Given the description of an element on the screen output the (x, y) to click on. 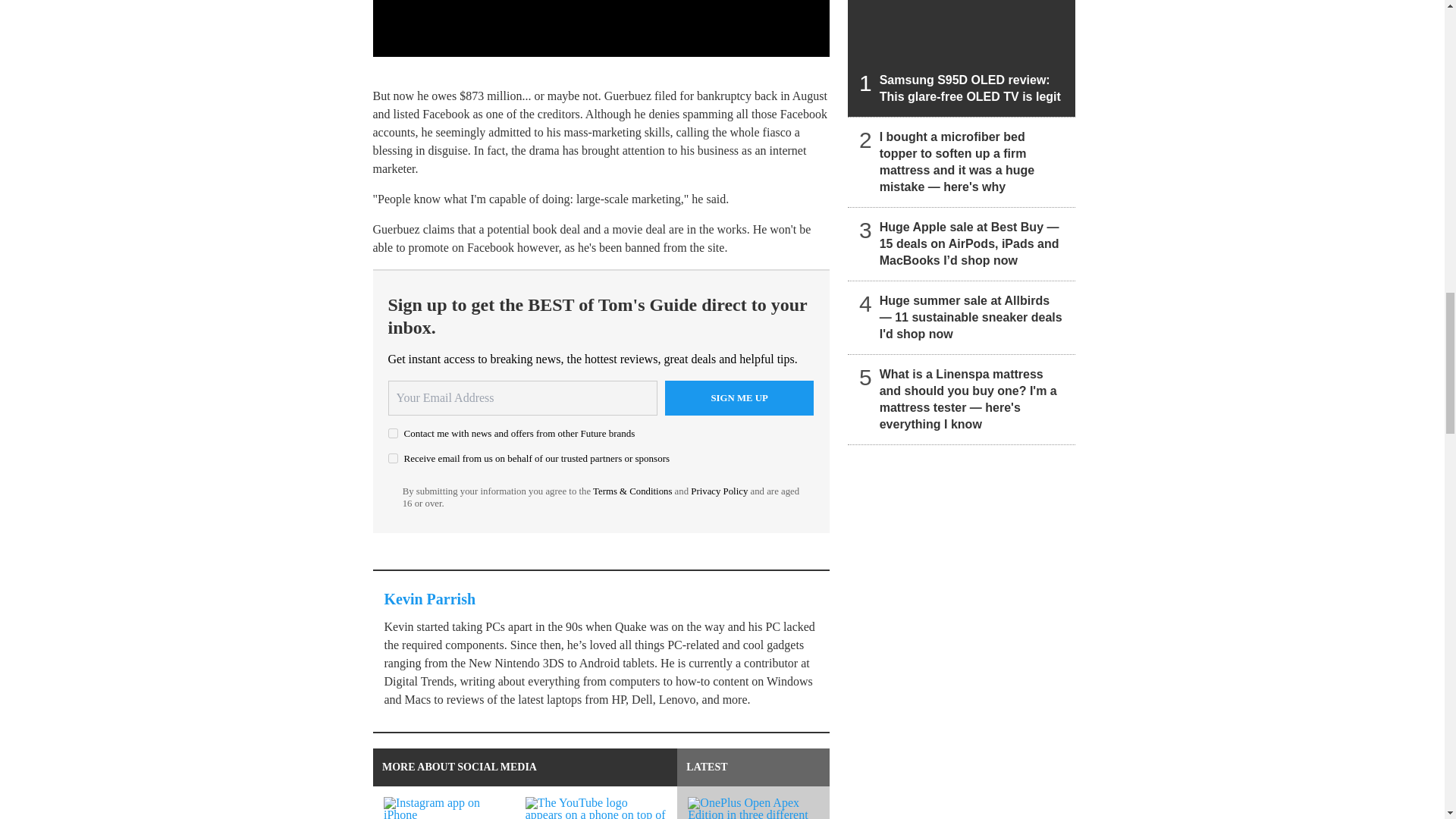
on (392, 458)
on (392, 433)
Sign me up (739, 397)
Samsung S95D OLED review: This glare-free OLED TV is legit (961, 58)
